Given the description of an element on the screen output the (x, y) to click on. 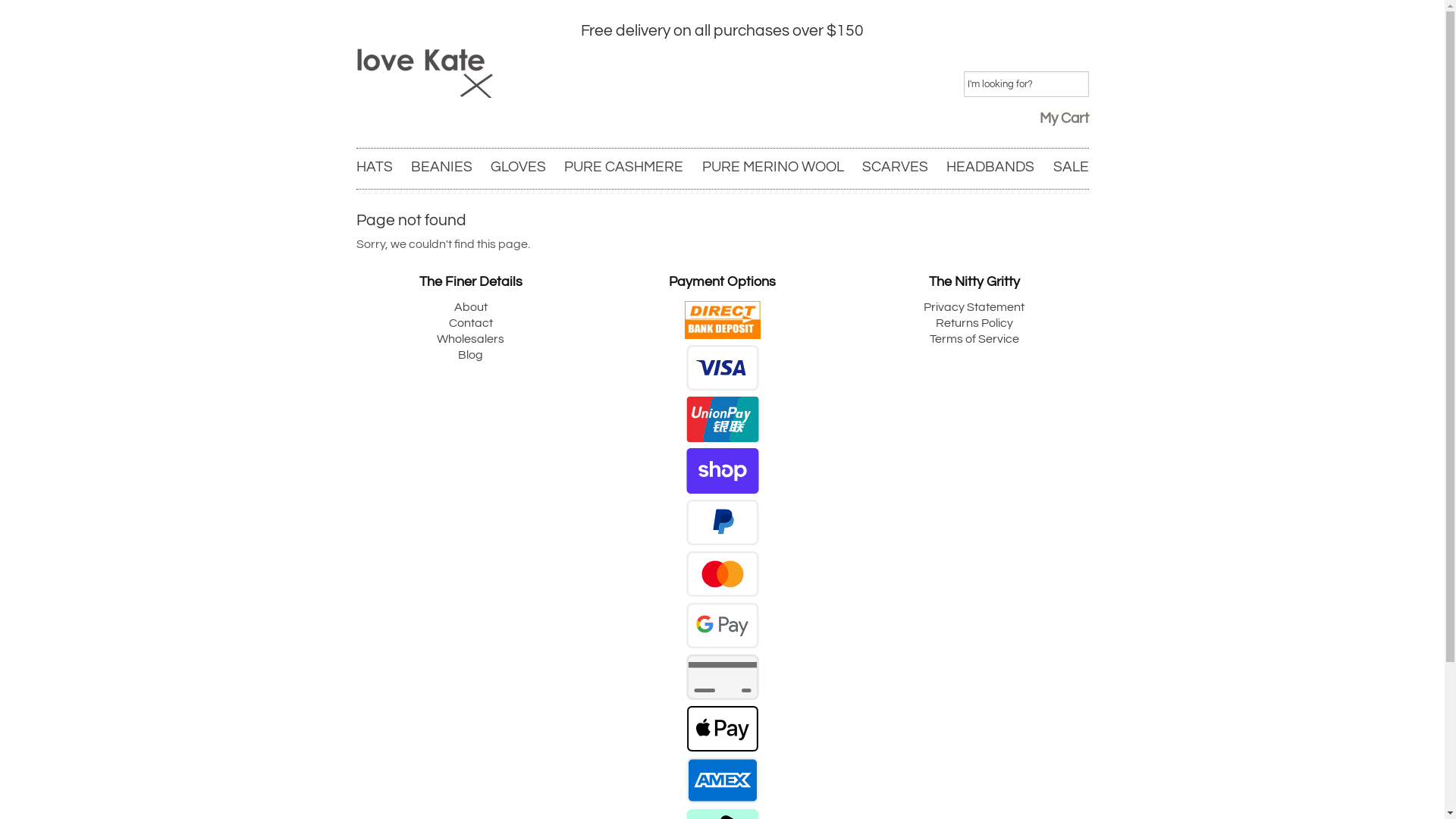
HATS Element type: text (374, 166)
PURE CASHMERE Element type: text (623, 166)
About Element type: text (469, 307)
My Cart Element type: text (1063, 117)
SALE Element type: text (1070, 166)
Wholesalers Element type: text (470, 338)
PURE MERINO WOOL Element type: text (773, 166)
Returns Policy Element type: text (974, 322)
GLOVES Element type: text (518, 166)
Terms of Service Element type: text (974, 338)
SCARVES Element type: text (895, 166)
Contact Element type: text (470, 322)
BEANIES Element type: text (441, 166)
Privacy Statement Element type: text (973, 307)
HEADBANDS Element type: text (990, 166)
Blog Element type: text (470, 354)
